Given the description of an element on the screen output the (x, y) to click on. 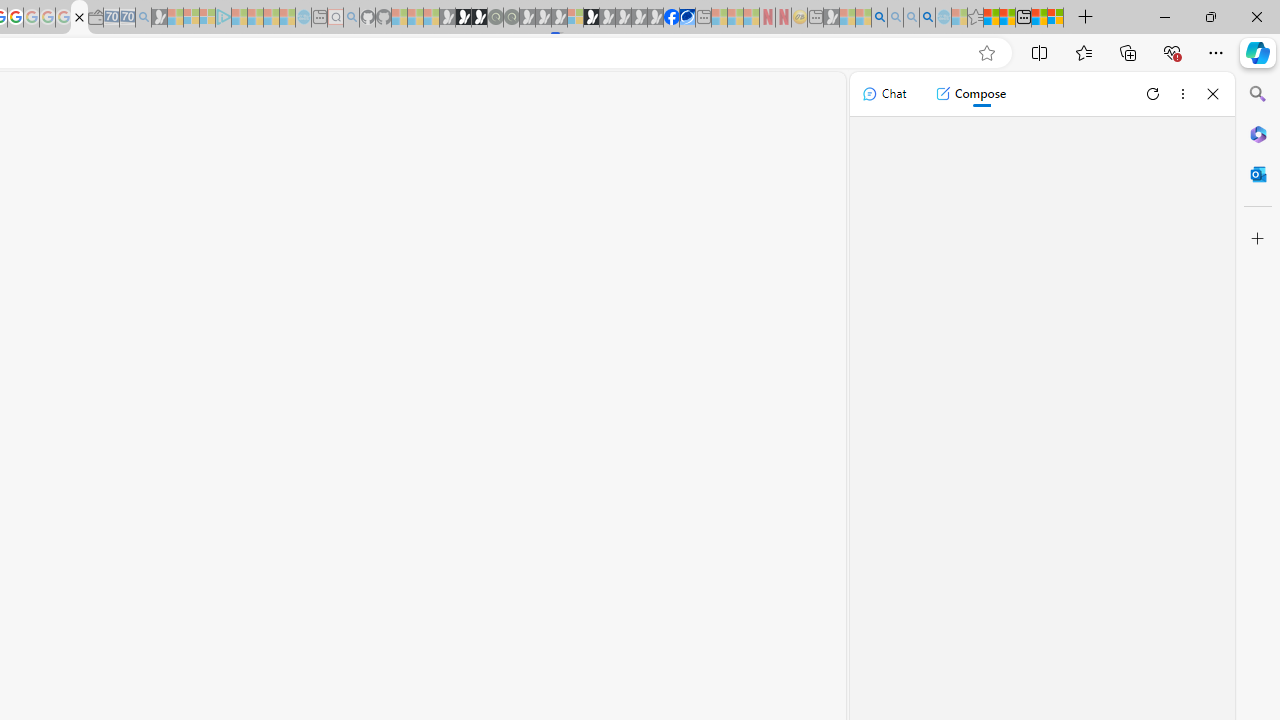
Favorites - Sleeping (975, 17)
